Given the description of an element on the screen output the (x, y) to click on. 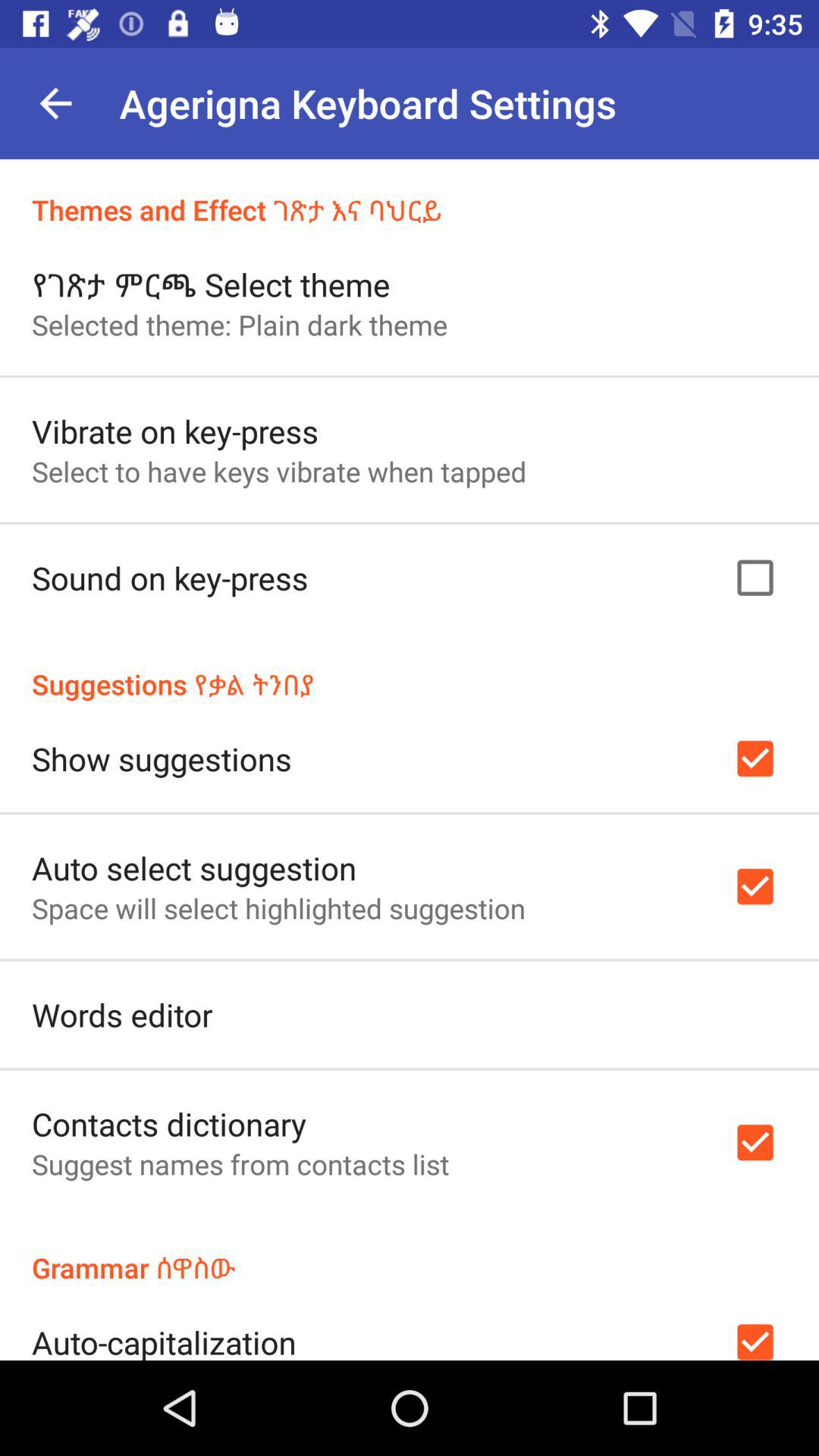
turn off the icon above words editor (278, 908)
